Given the description of an element on the screen output the (x, y) to click on. 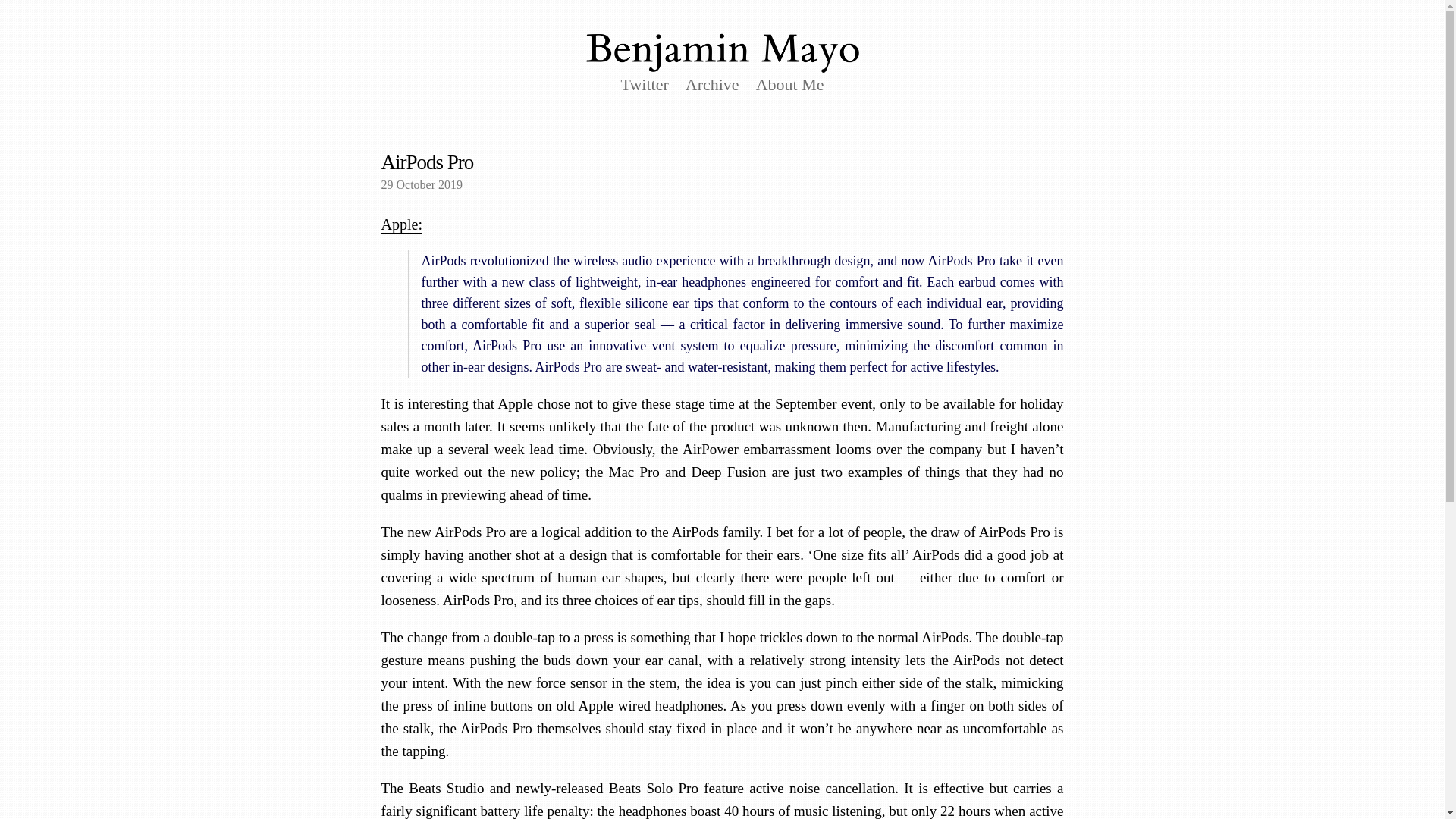
Archive (712, 84)
Twitter (644, 84)
Apple: (401, 224)
Benjamin Mayo (722, 53)
AirPods Pro (426, 161)
About Me (789, 84)
